Given the description of an element on the screen output the (x, y) to click on. 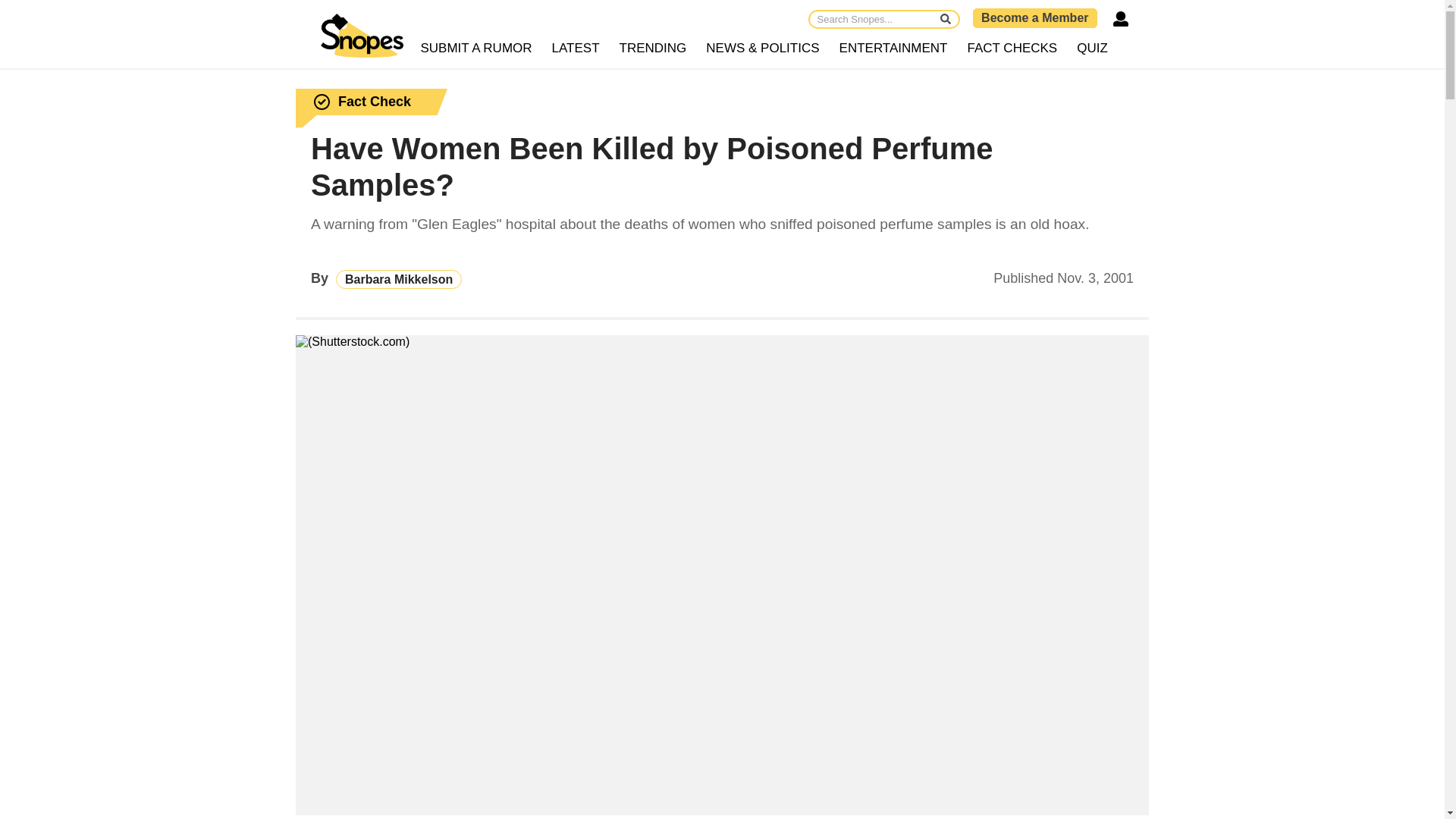
QUIZ (1092, 47)
FACT CHECKS (1011, 47)
Barbara Mikkelson (398, 279)
LATEST (576, 47)
TRENDING (653, 47)
ENTERTAINMENT (893, 47)
Become a Member (1034, 17)
SUBMIT A RUMOR (475, 47)
